Given the description of an element on the screen output the (x, y) to click on. 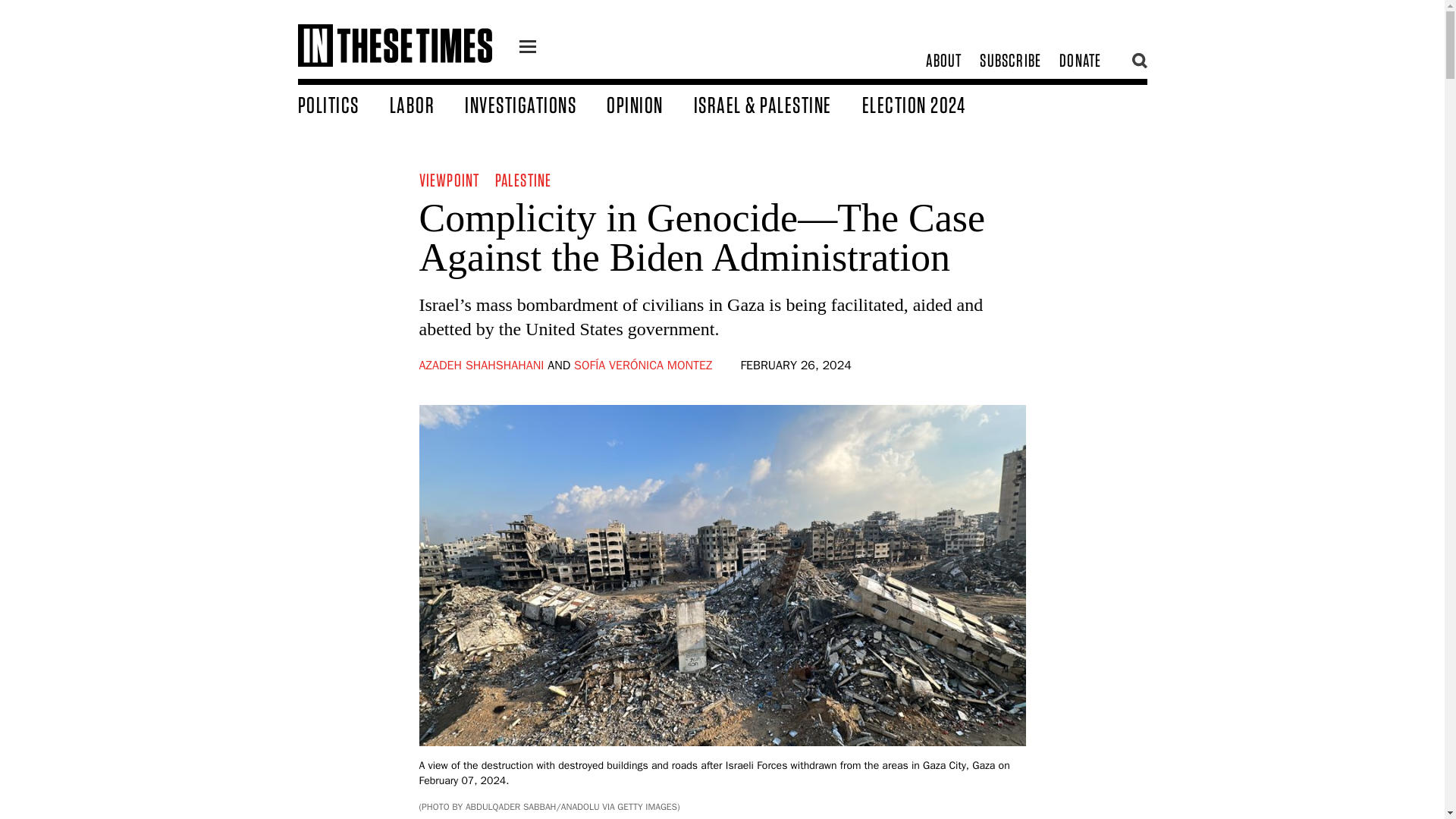
VIEWPOINT (449, 179)
ABOUT (944, 60)
INVESTIGATIONS (535, 103)
POLITICS (342, 103)
LABOR (427, 103)
OPINION (650, 103)
PALESTINE (523, 179)
ELECTION 2024 (928, 103)
AZADEH SHAHSHAHANI (481, 365)
